Given the description of an element on the screen output the (x, y) to click on. 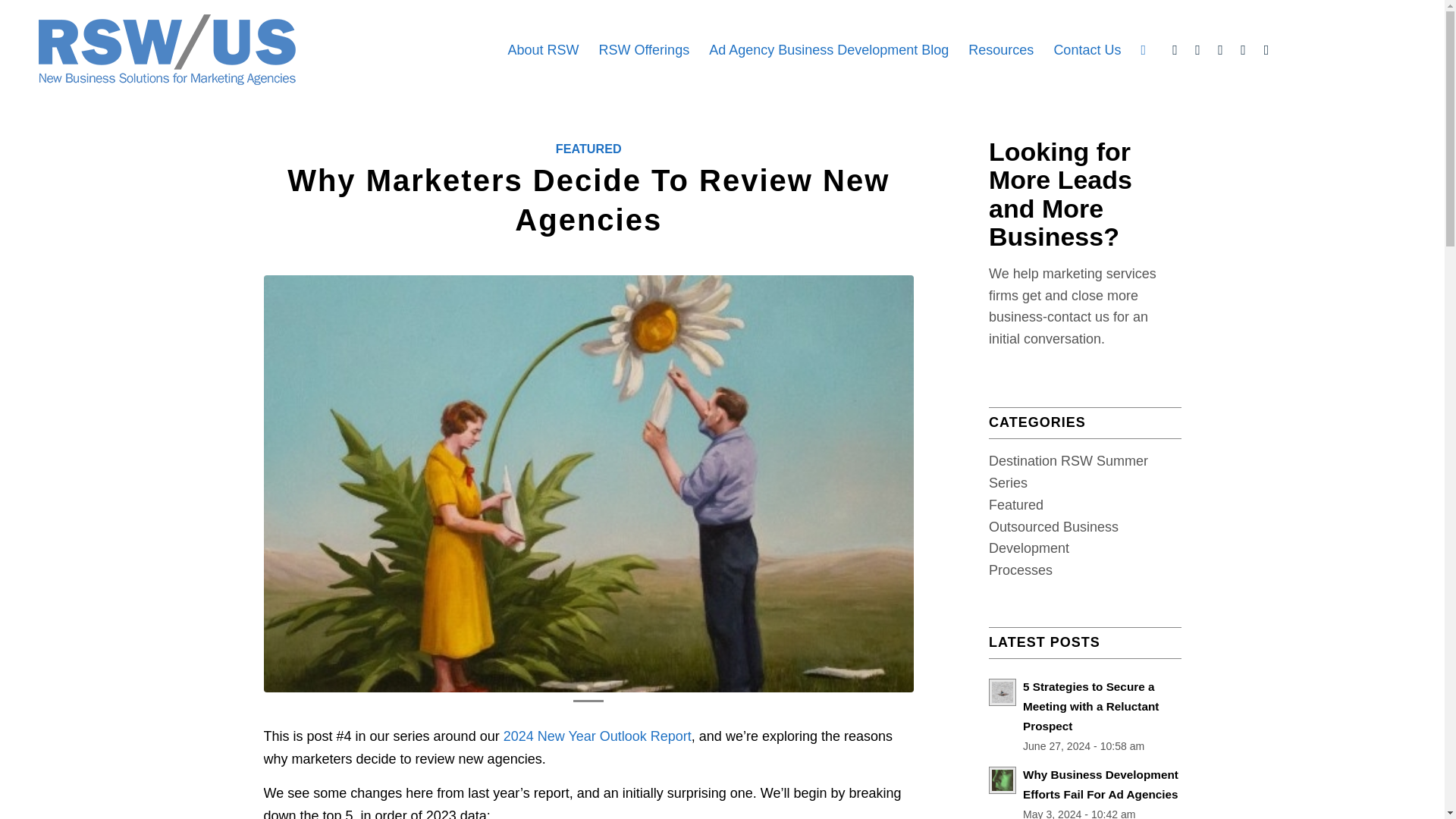
Ad Agency Business Development Blog (828, 49)
Destination RSW Summer Series (1068, 471)
2024 New Year Outlook Report (597, 735)
FEATURED (588, 148)
Instagram (1242, 49)
Facebook (1266, 49)
Updated RSW logo-2021 (166, 49)
Updated RSW logo-2021 (166, 49)
X (1220, 49)
RSW Offerings (643, 49)
Featured (1015, 504)
Contact Us (1087, 49)
About RSW (542, 49)
